Given the description of an element on the screen output the (x, y) to click on. 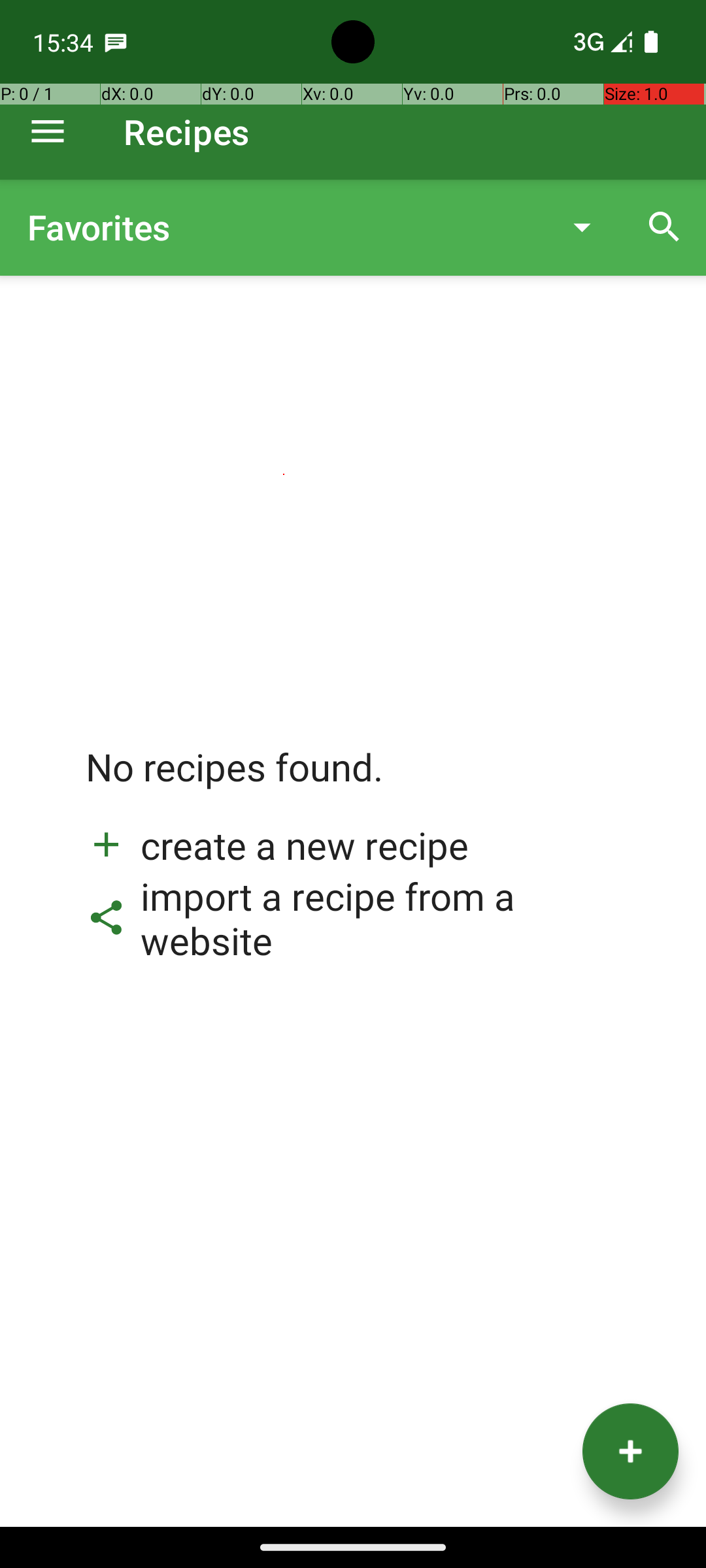
No recipes found. Element type: android.widget.TextView (234, 779)
create a new recipe Element type: android.widget.TextView (276, 844)
import a recipe from a website Element type: android.widget.TextView (352, 917)
Favorites Element type: android.widget.TextView (283, 226)
